Given the description of an element on the screen output the (x, y) to click on. 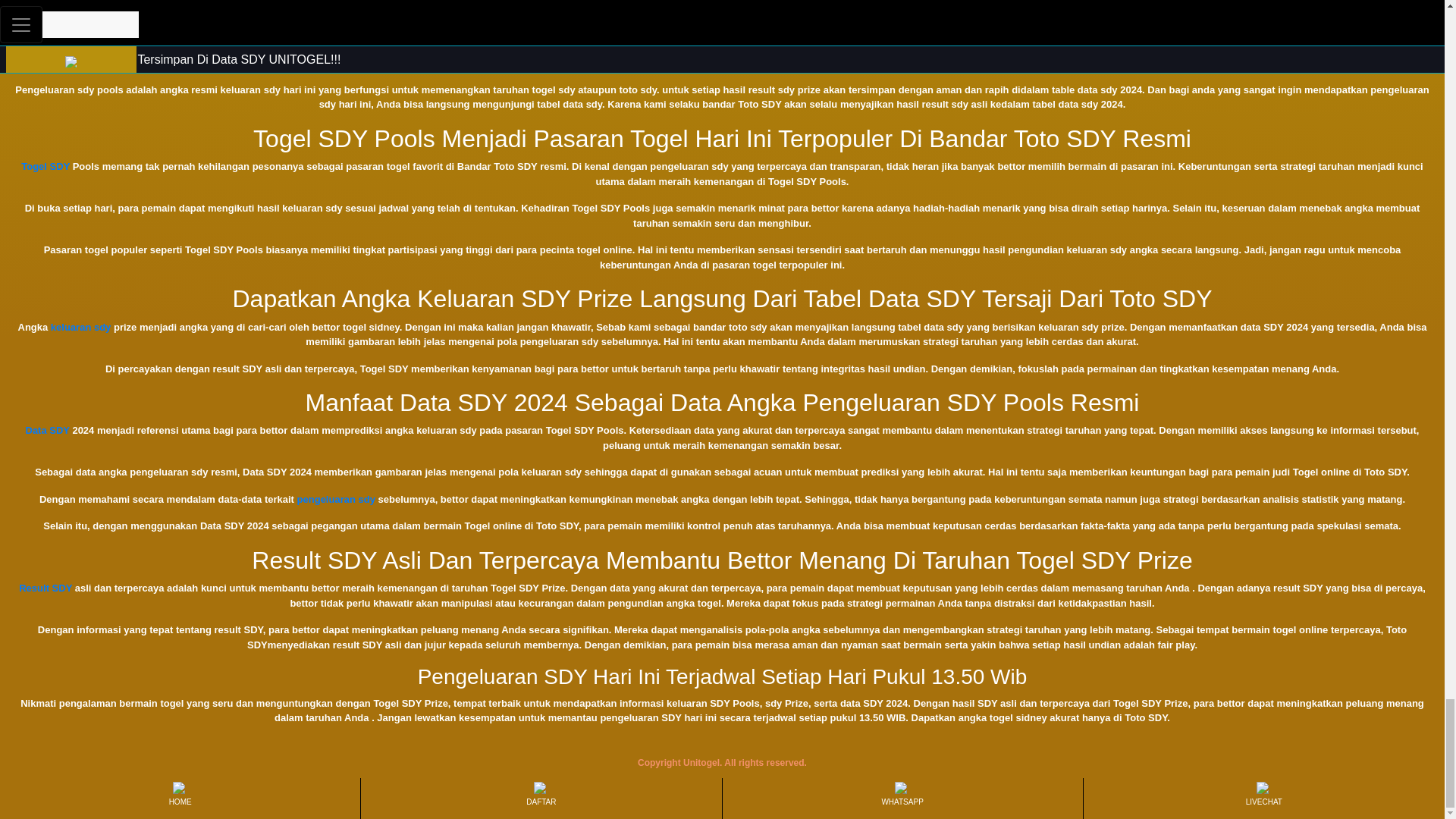
keluaran sdy (81, 326)
Result SDY (44, 587)
Togel SDY (45, 165)
Data SDY (47, 430)
pengeluaran sdy (336, 499)
